Given the description of an element on the screen output the (x, y) to click on. 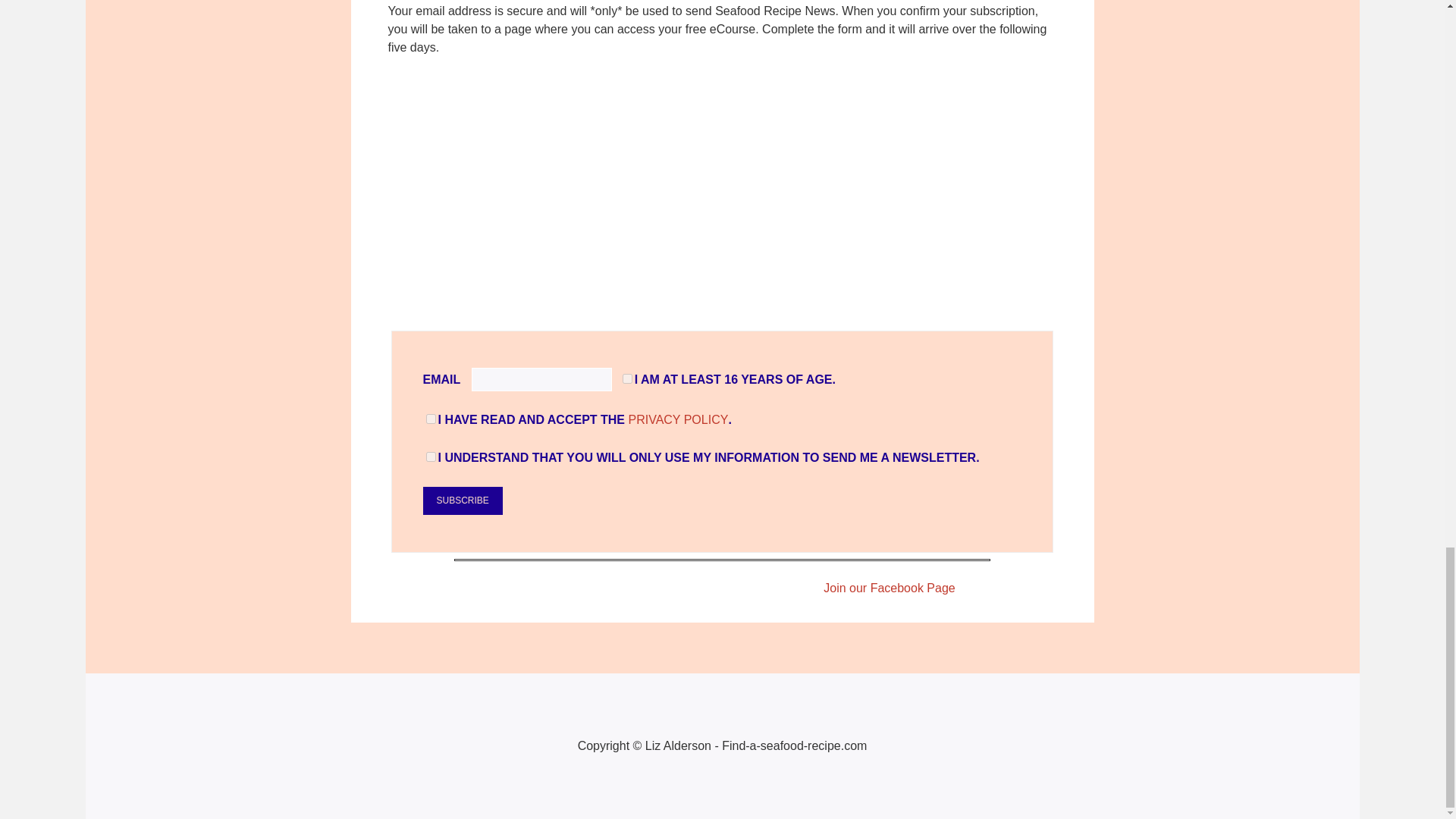
on (627, 378)
newsletter subscribe image (721, 194)
on (430, 456)
on (430, 419)
